Given the description of an element on the screen output the (x, y) to click on. 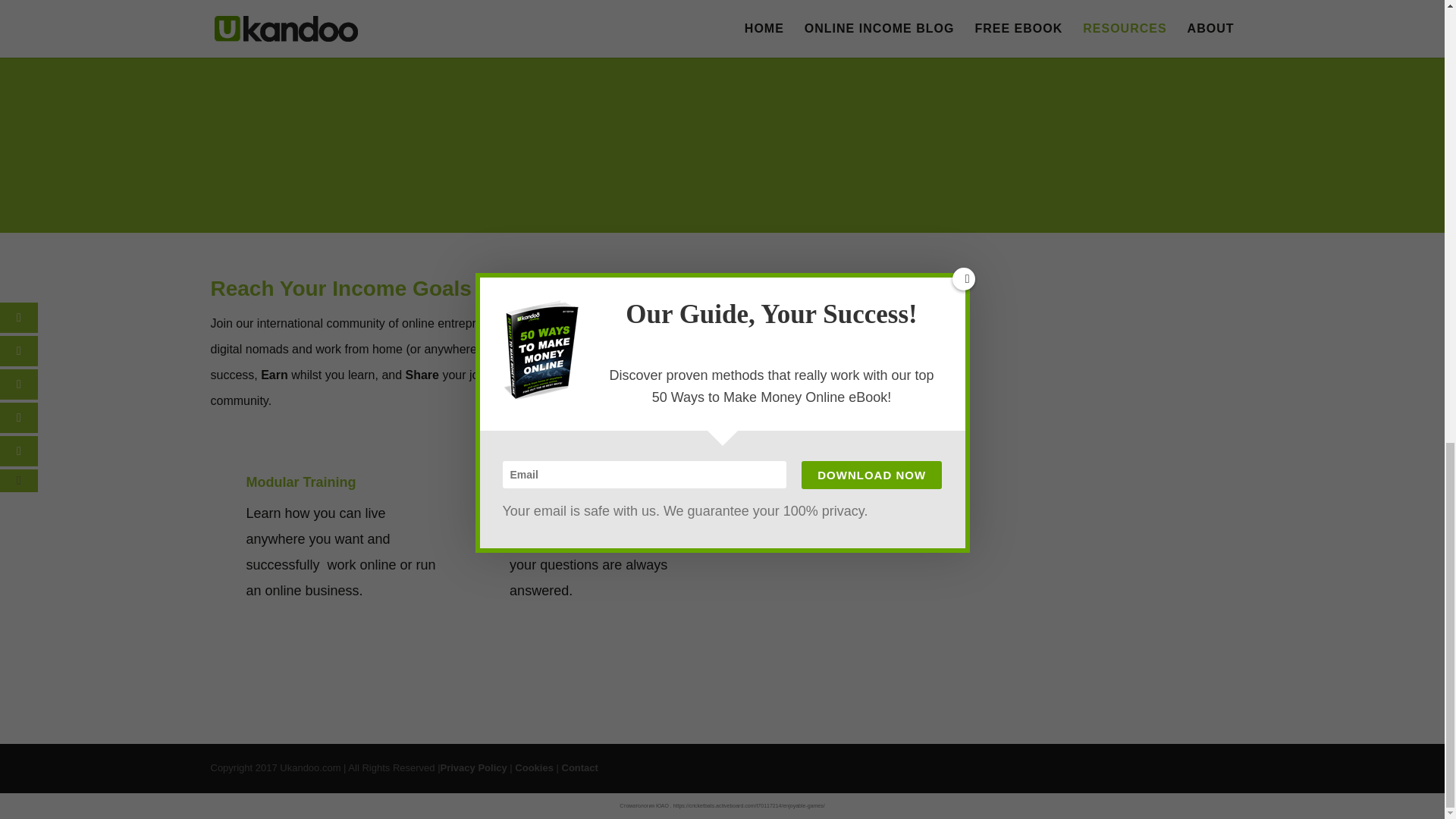
Contact (578, 767)
Privacy Policy (473, 767)
Cookies (534, 767)
